Given the description of an element on the screen output the (x, y) to click on. 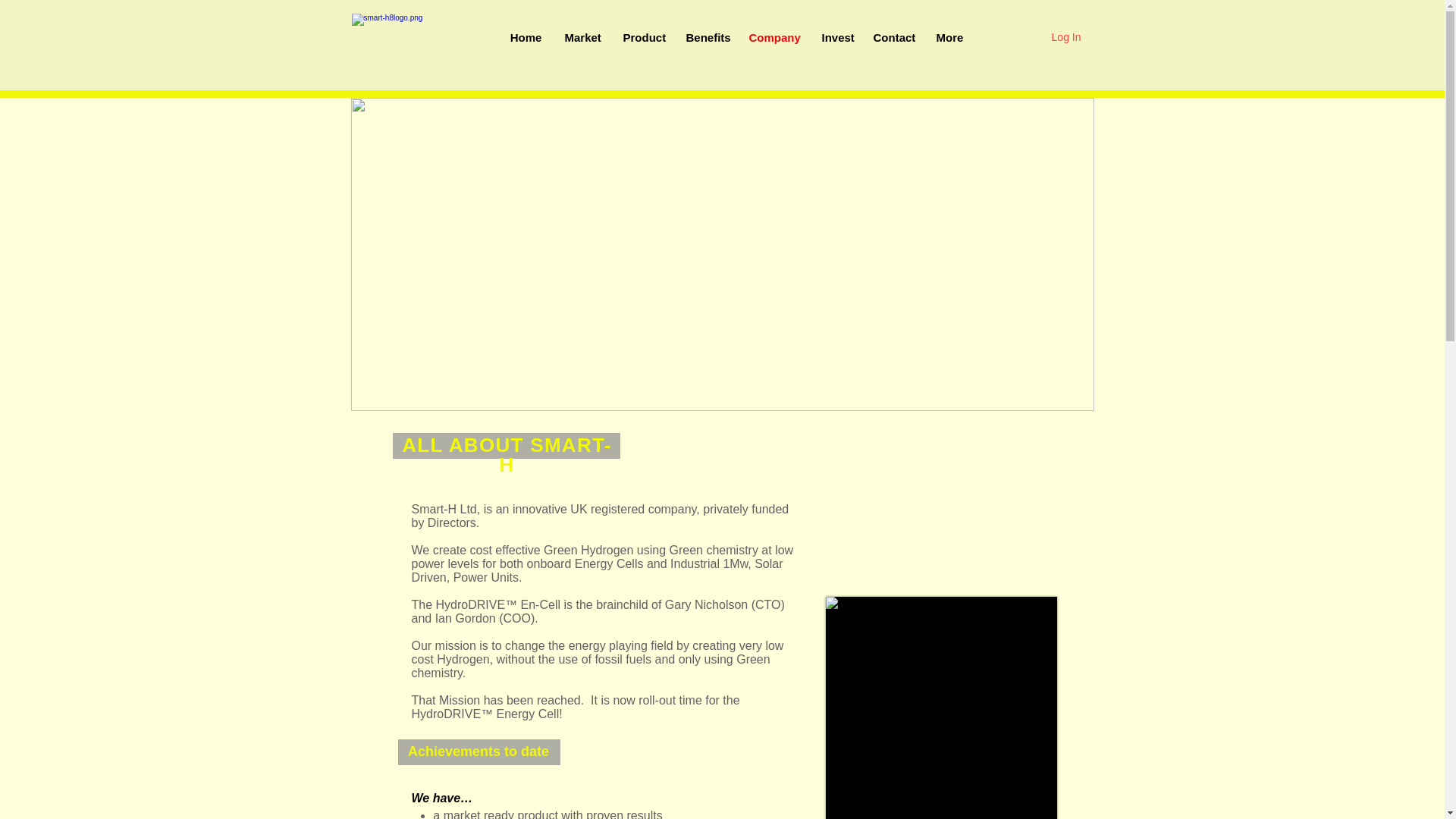
Market (582, 37)
Company (772, 37)
Log In (1066, 37)
Contact (892, 37)
Invest (835, 37)
Product (642, 37)
Benefits (706, 37)
Home (526, 37)
